Given the description of an element on the screen output the (x, y) to click on. 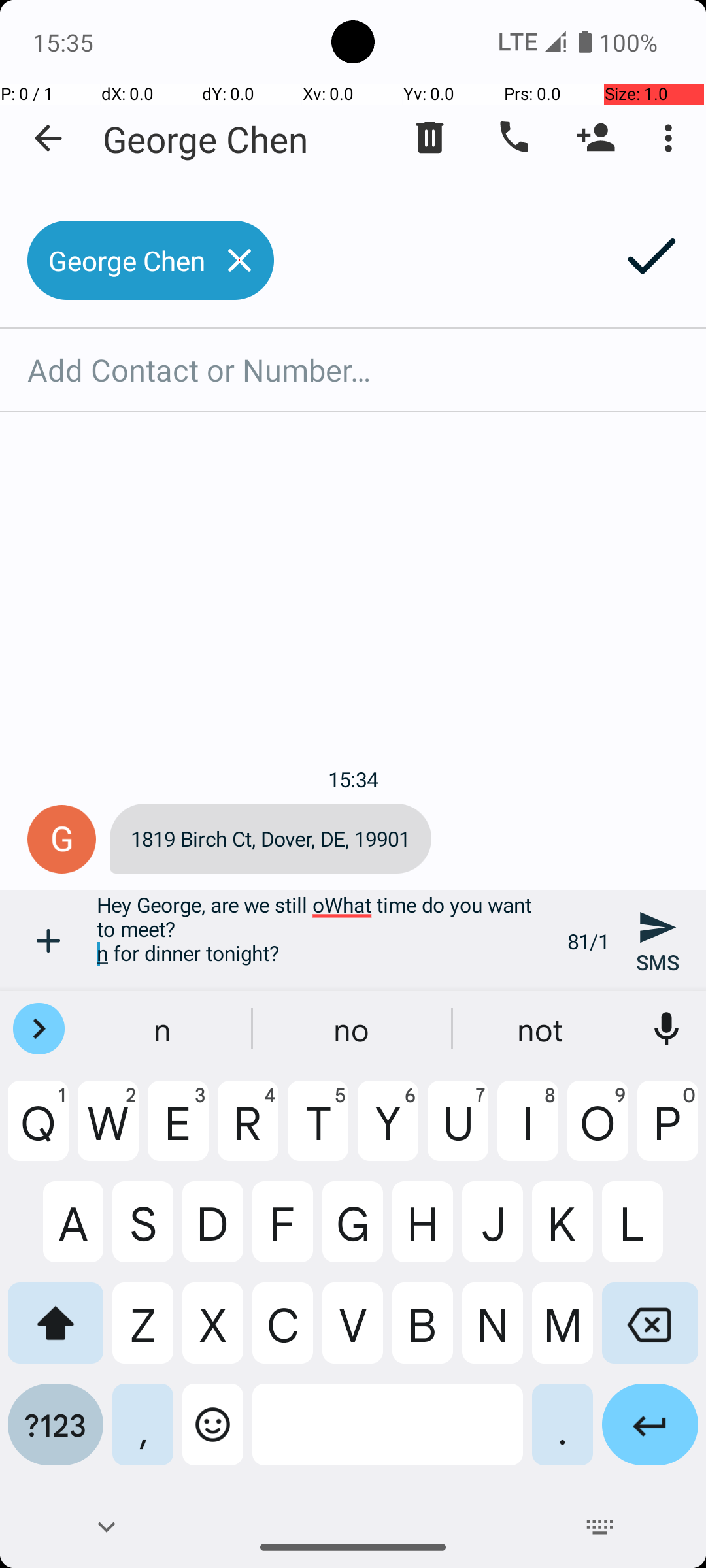
George Chen Element type: android.widget.TextView (205, 138)
Hey George, are we still oWhat time do you want to meet?
n for dinner tonight?
 Element type: android.widget.EditText (324, 940)
81/1 Element type: android.widget.TextView (588, 941)
1819 Birch Ct, Dover, DE, 19901 Element type: android.widget.TextView (270, 838)
no Element type: android.widget.FrameLayout (352, 1028)
not Element type: android.widget.FrameLayout (541, 1028)
